Given the description of an element on the screen output the (x, y) to click on. 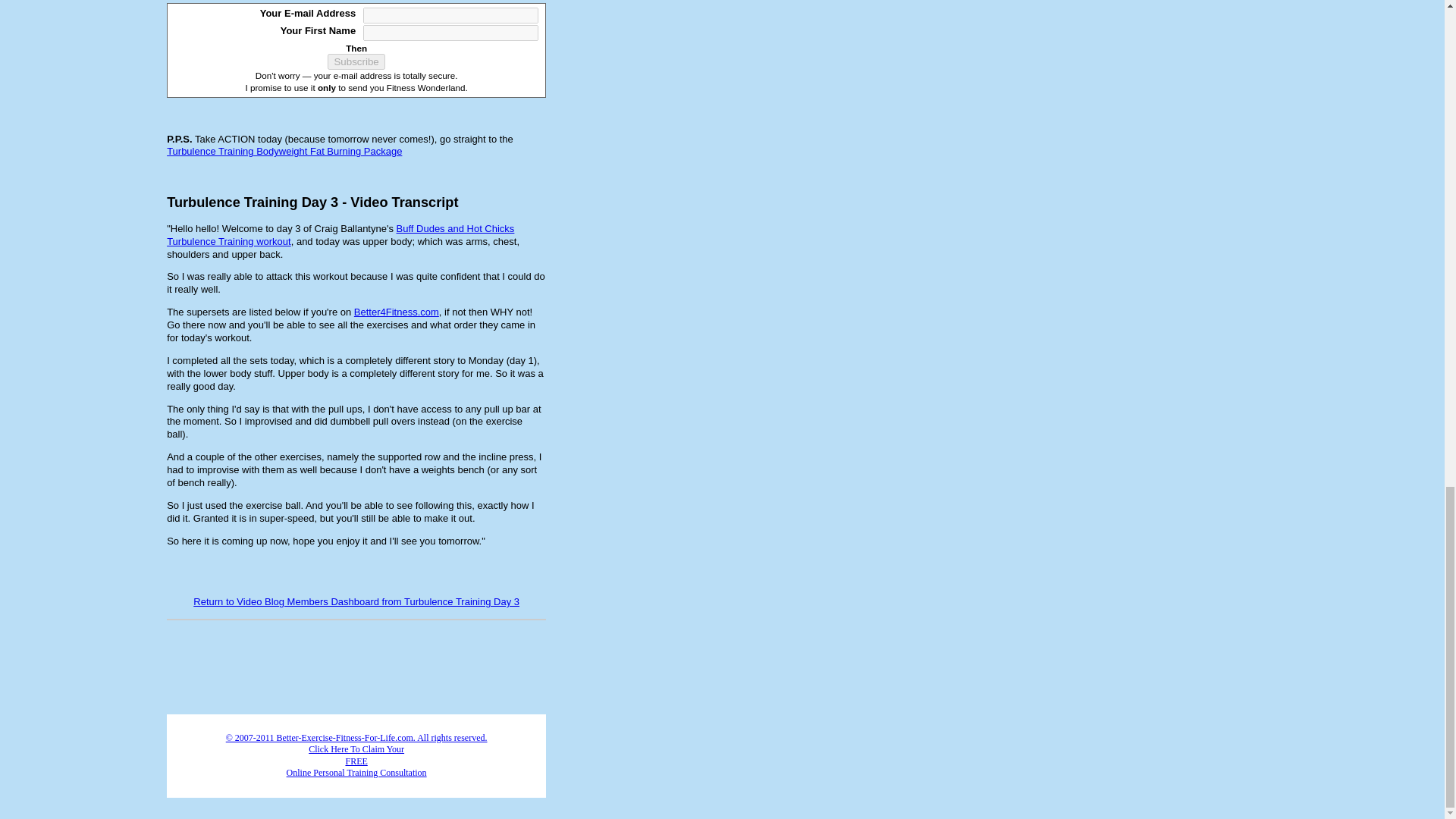
Subscribe (355, 61)
Buff Dudes and Hot Chicks Turbulence Training workout (340, 234)
Better4Fitness.com (396, 311)
Turbulence Training Bodyweight Fat Burning Package (284, 151)
